Given the description of an element on the screen output the (x, y) to click on. 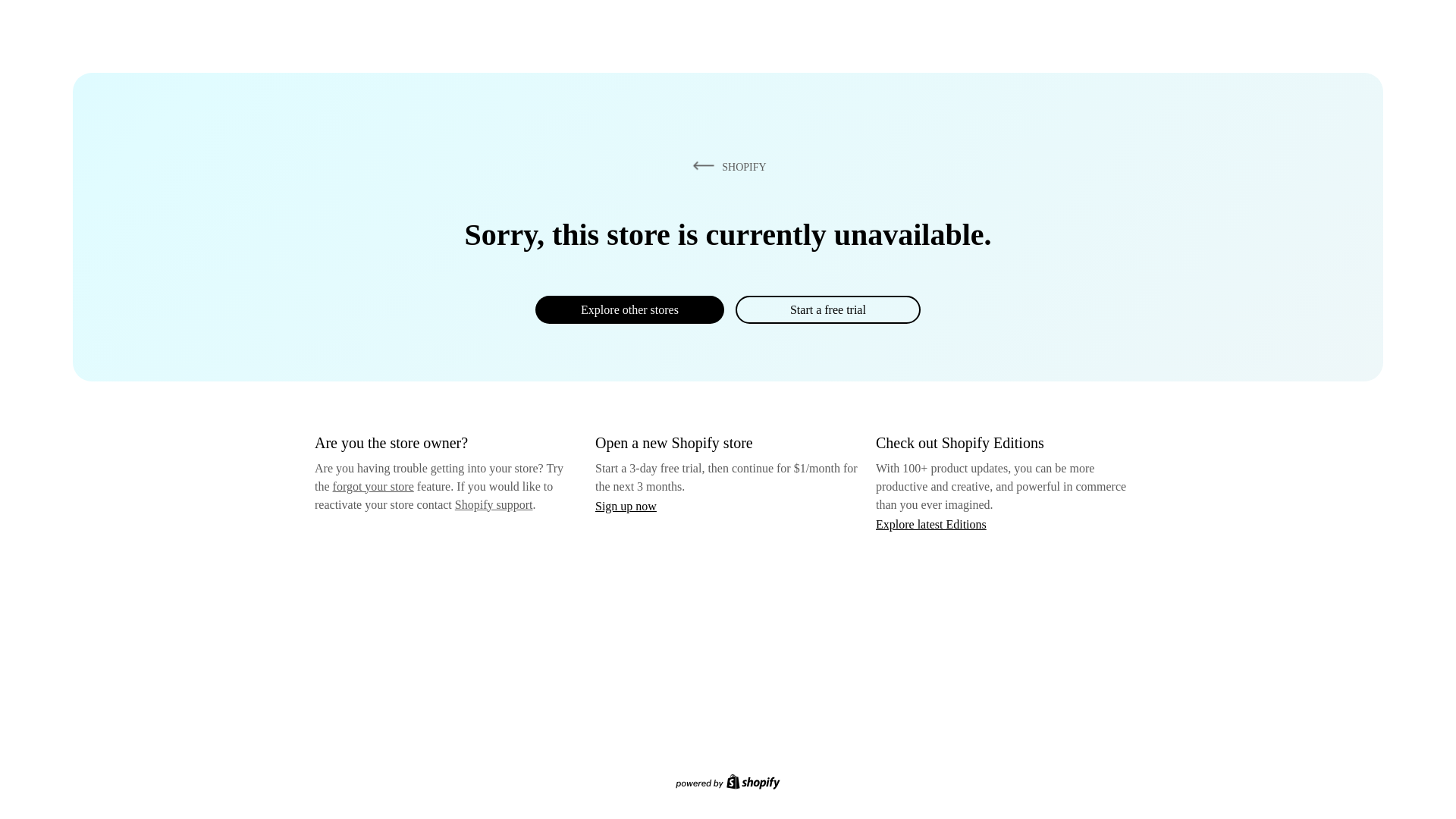
forgot your store (373, 486)
SHOPIFY (726, 166)
Start a free trial (827, 309)
Explore latest Editions (931, 523)
Shopify support (493, 504)
Explore other stores (629, 309)
Sign up now (625, 505)
